Given the description of an element on the screen output the (x, y) to click on. 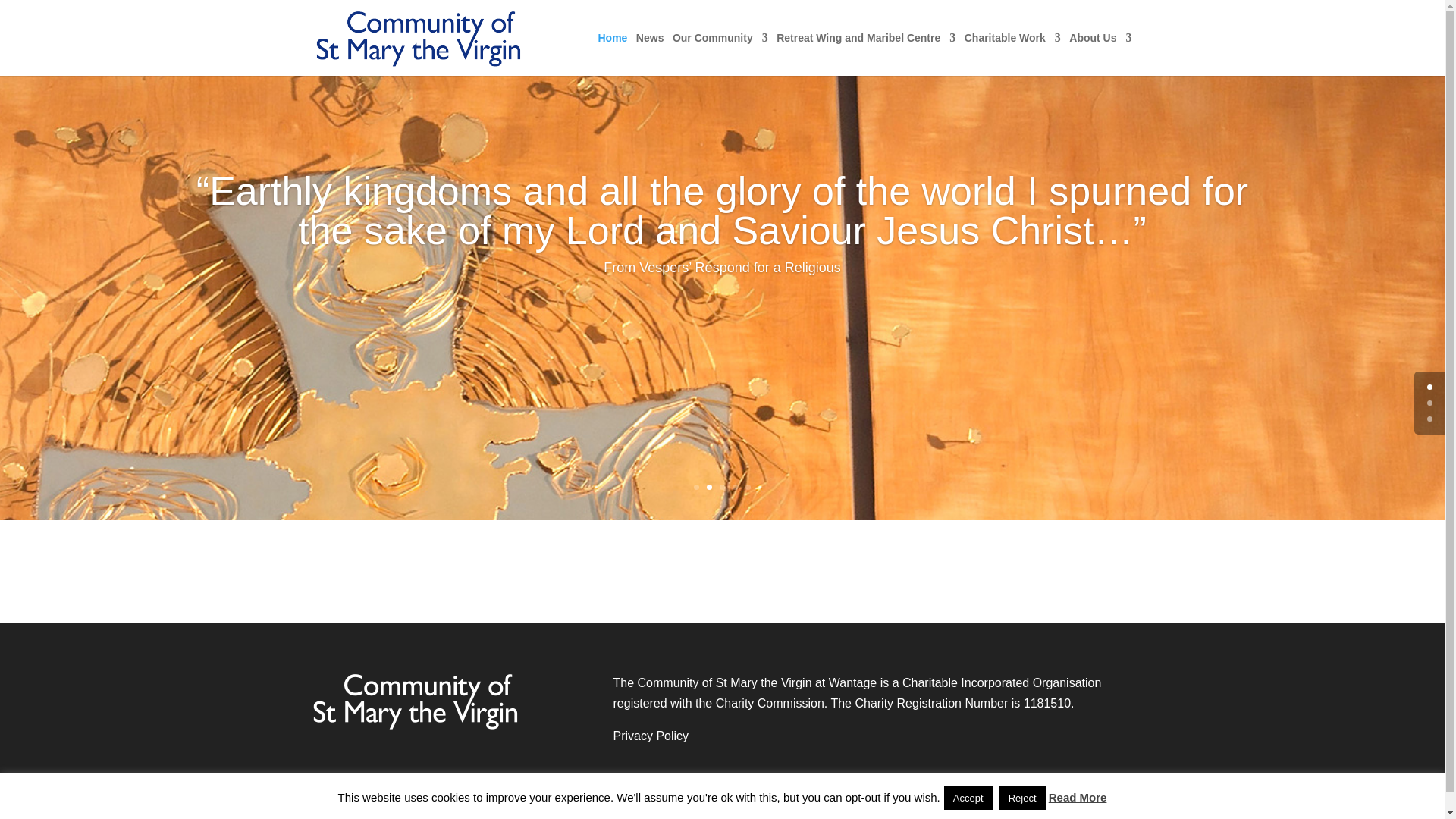
Our Community (720, 54)
Retreat Wing and Maribel Centre (865, 54)
Charitable Work (1012, 54)
